Given the description of an element on the screen output the (x, y) to click on. 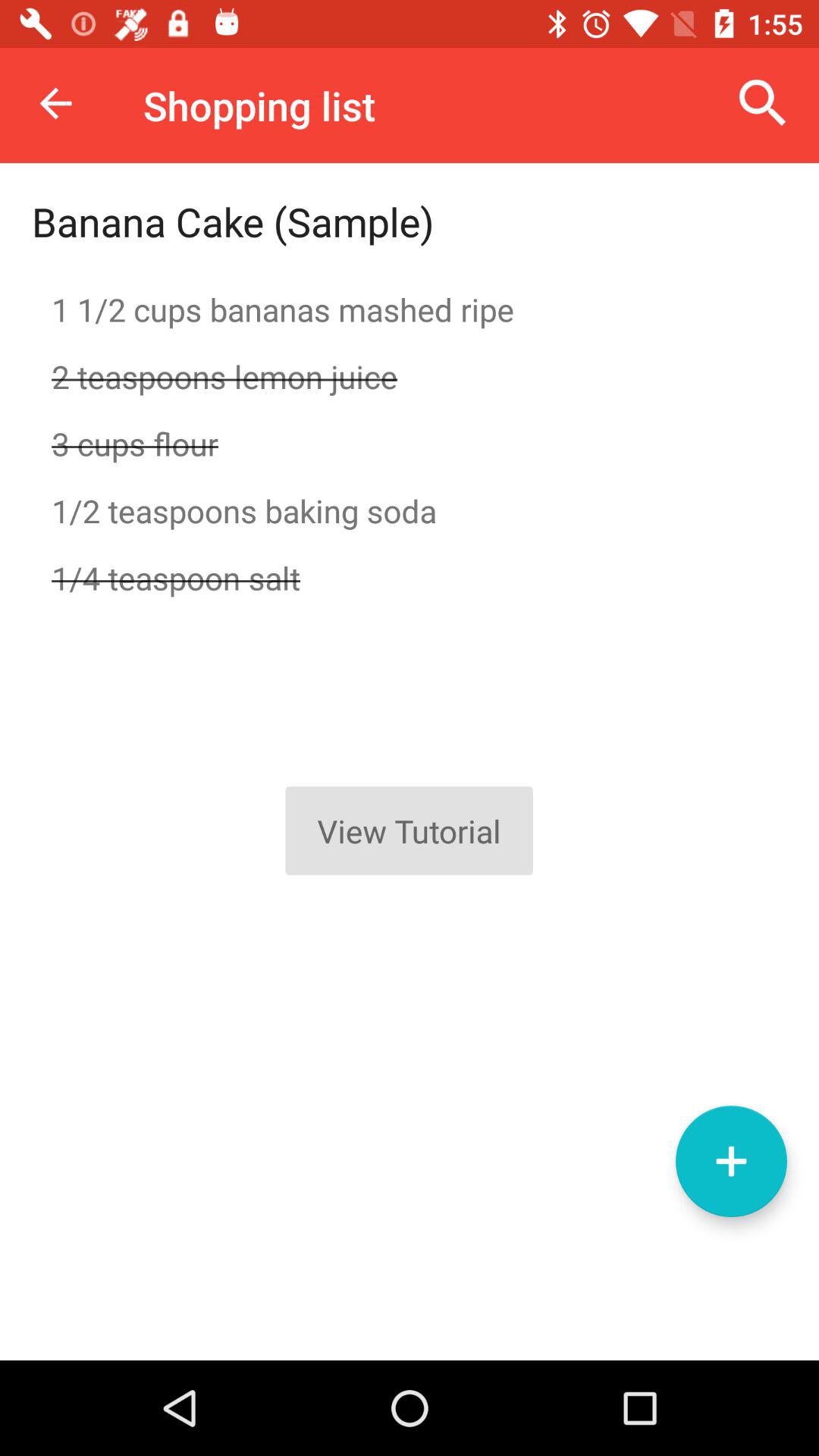
turn off the item at the bottom right corner (731, 1161)
